Given the description of an element on the screen output the (x, y) to click on. 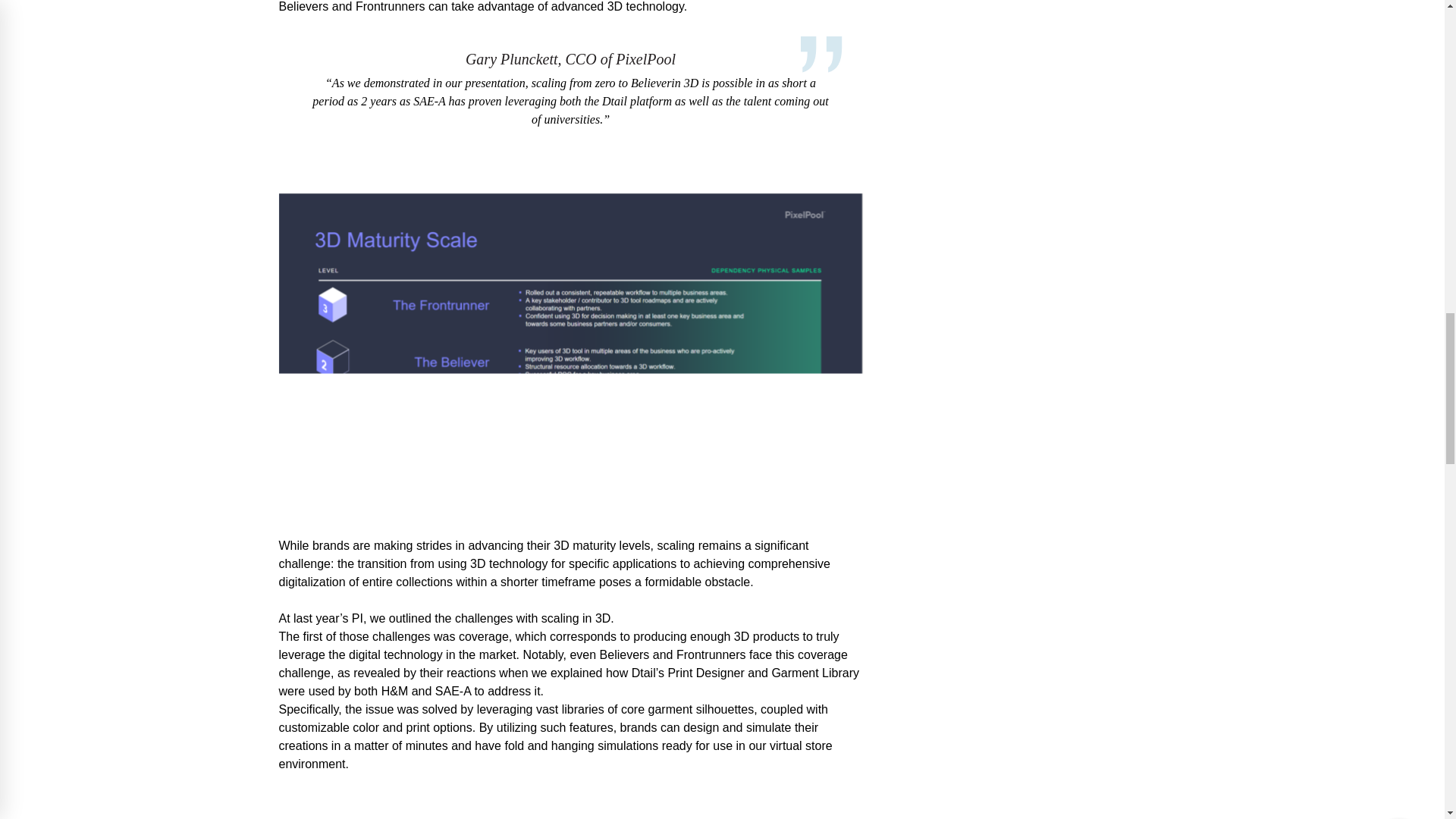
SAE workflow in Print Designer and Dtail Spaces (571, 807)
